Given the description of an element on the screen output the (x, y) to click on. 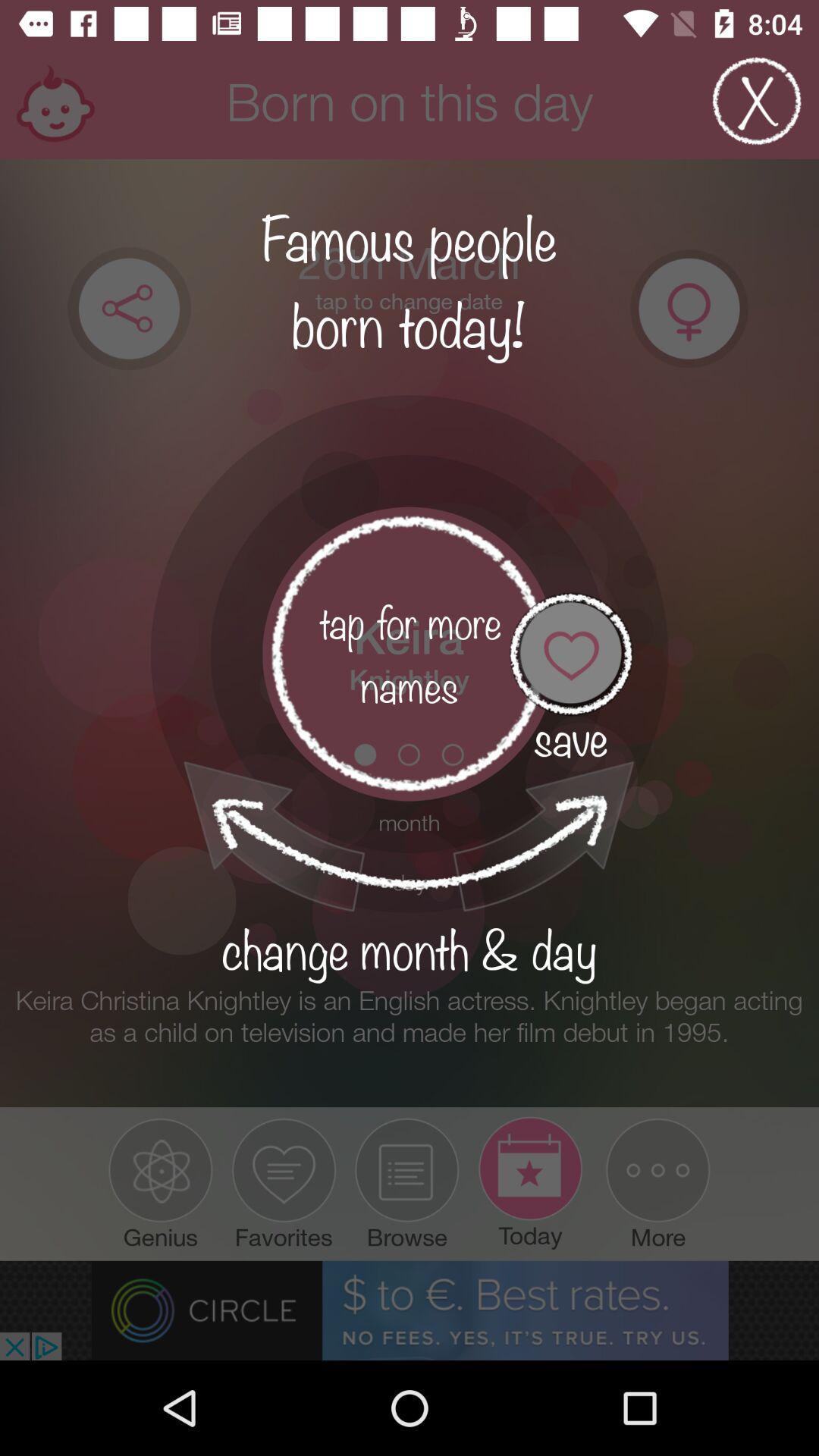
view more names (409, 653)
